Given the description of an element on the screen output the (x, y) to click on. 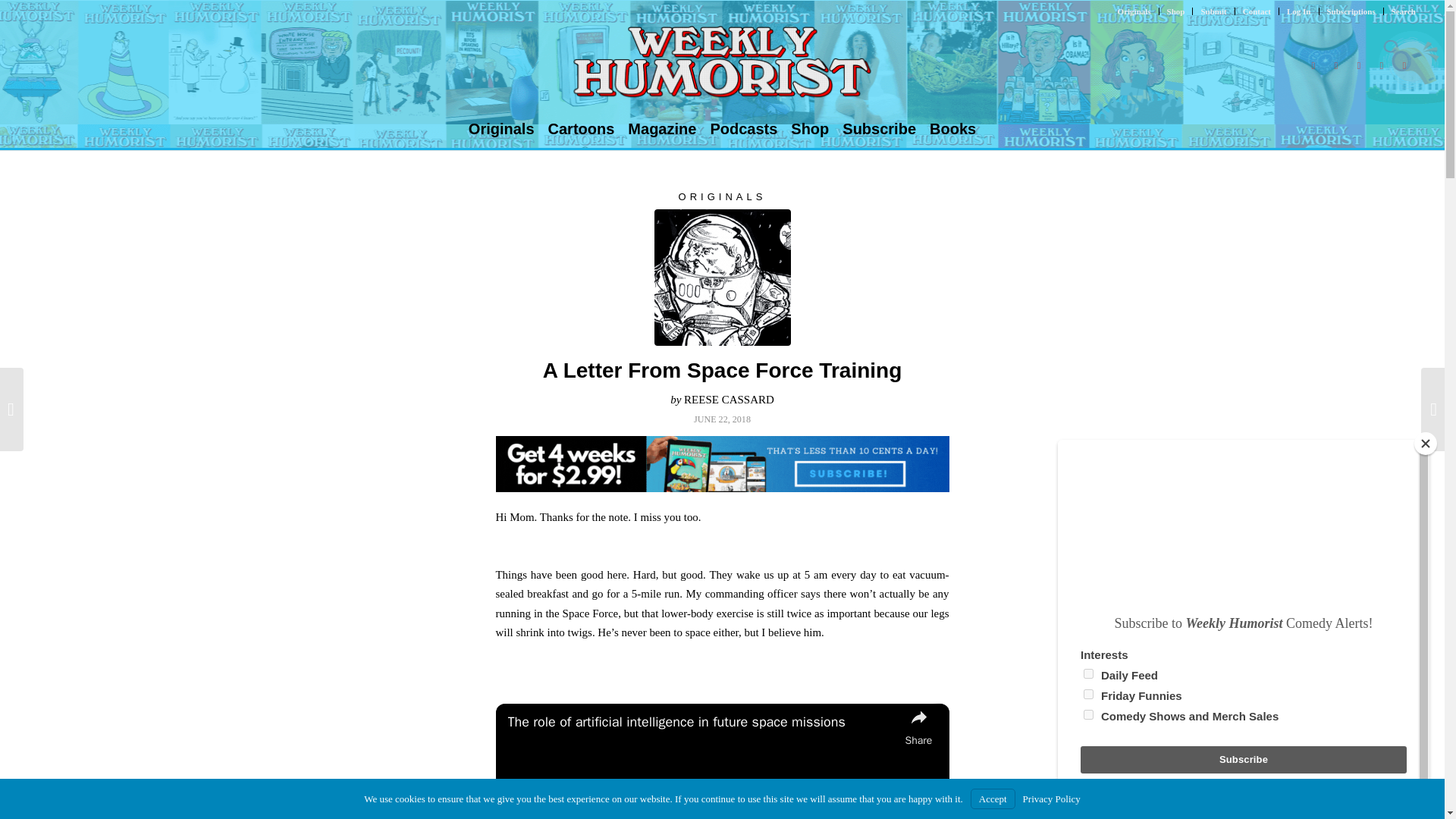
The role of artificial intelligence in future space missions (703, 722)
Youtube (1359, 65)
Originals (1134, 11)
Shop (1176, 11)
Submit (1212, 11)
Subscriptions (1350, 11)
Magazine (662, 128)
Podcasts (743, 128)
Contact (1257, 11)
Facebook (1336, 65)
Twitter (1312, 65)
Share (919, 726)
Instagram (1381, 65)
Linkedin (1404, 65)
Cartoons (581, 128)
